Given the description of an element on the screen output the (x, y) to click on. 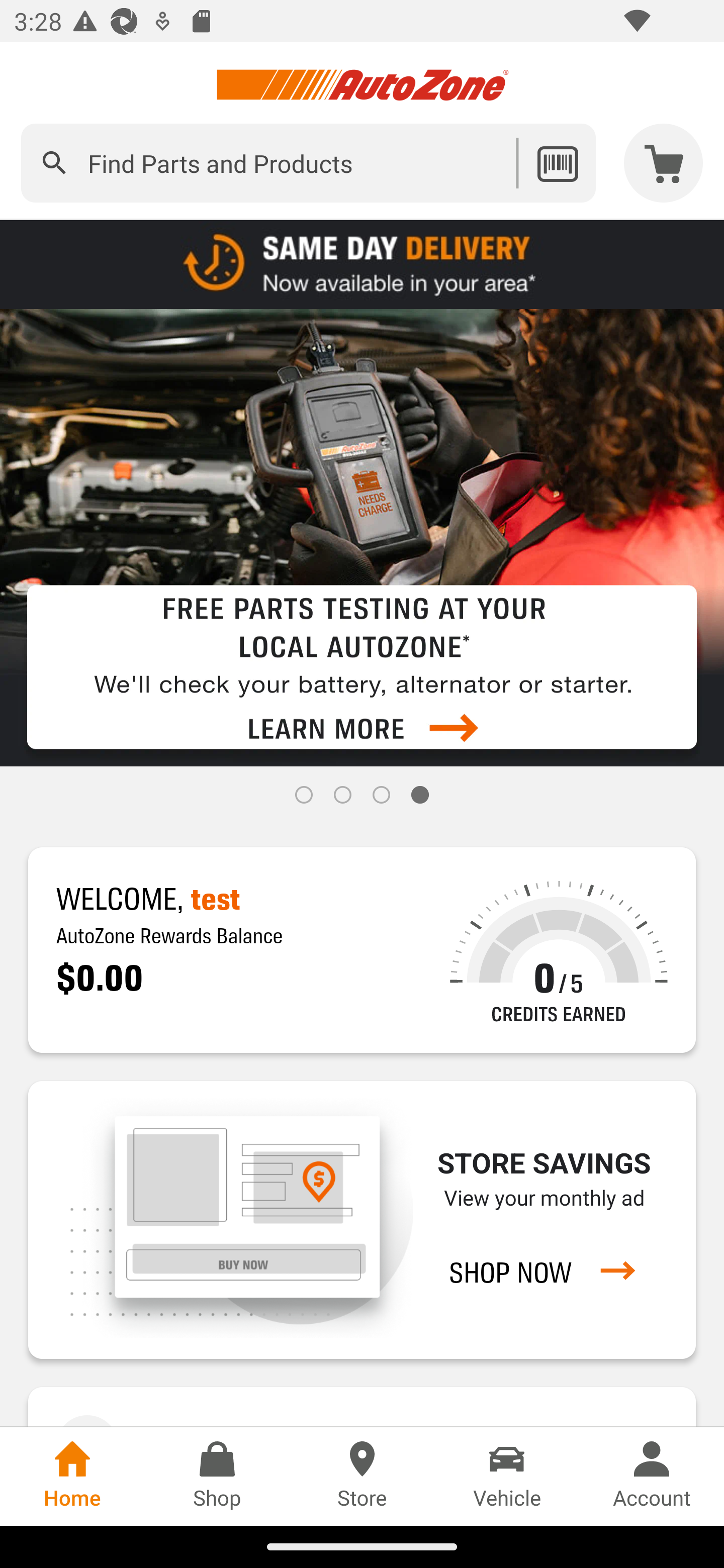
 scan-product-to-search  (557, 162)
 (54, 163)
Cart, no items  (663, 162)
Same Day Delivery - now available in your area* (362, 262)
Home (72, 1475)
Shop (216, 1475)
Store (361, 1475)
Vehicle (506, 1475)
Account (651, 1475)
